Given the description of an element on the screen output the (x, y) to click on. 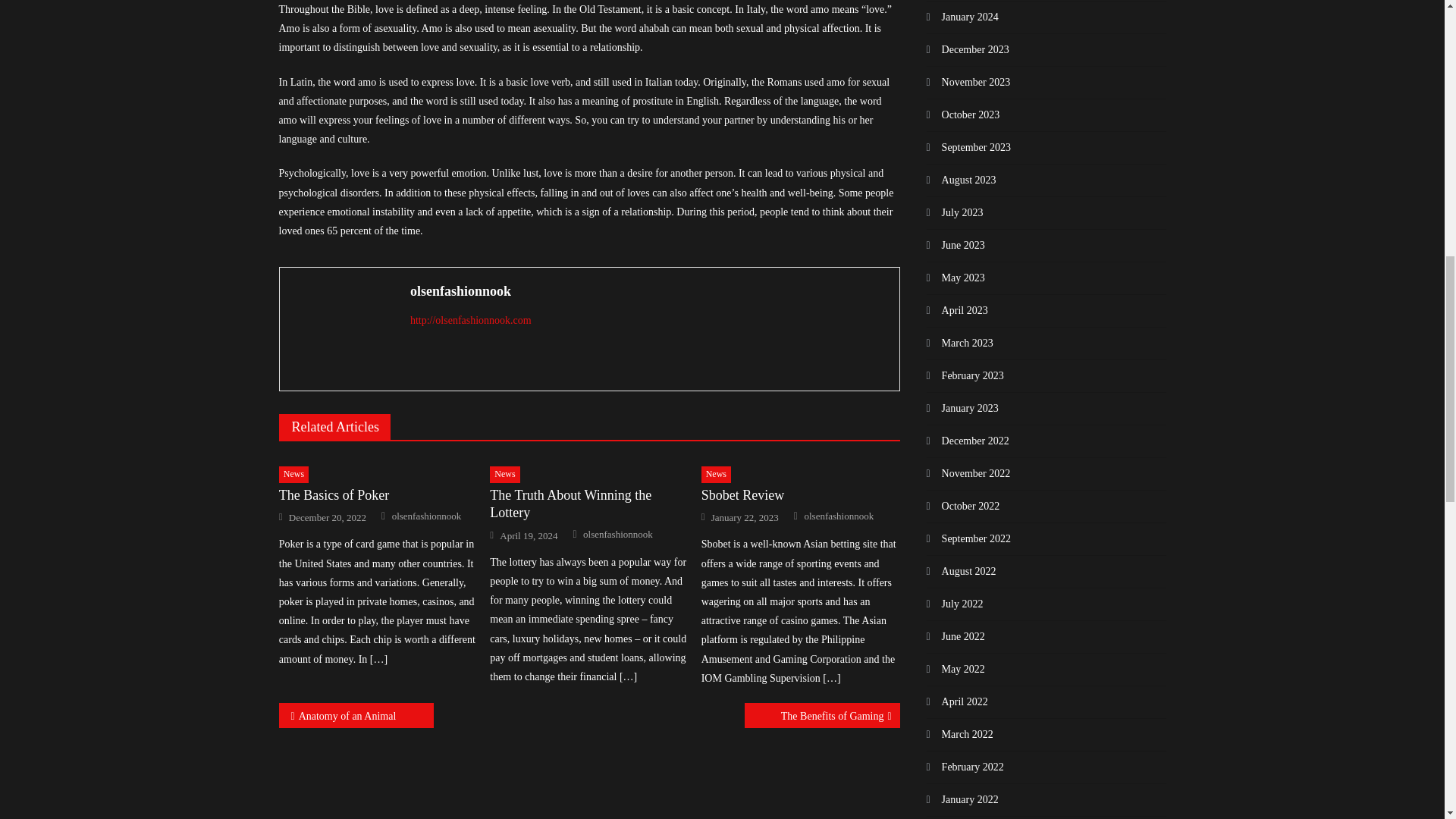
The Benefits of Gaming (821, 715)
News (504, 474)
News (715, 474)
olsenfashionnook (426, 516)
Sbobet Review (800, 495)
April 19, 2024 (528, 535)
The Truth About Winning the Lottery (588, 504)
News (293, 474)
olsenfashionnook (617, 534)
olsenfashionnook (649, 291)
December 20, 2022 (327, 517)
olsenfashionnook (838, 516)
The Basics of Poker (378, 495)
Anatomy of an Animal (356, 715)
January 22, 2023 (744, 517)
